Given the description of an element on the screen output the (x, y) to click on. 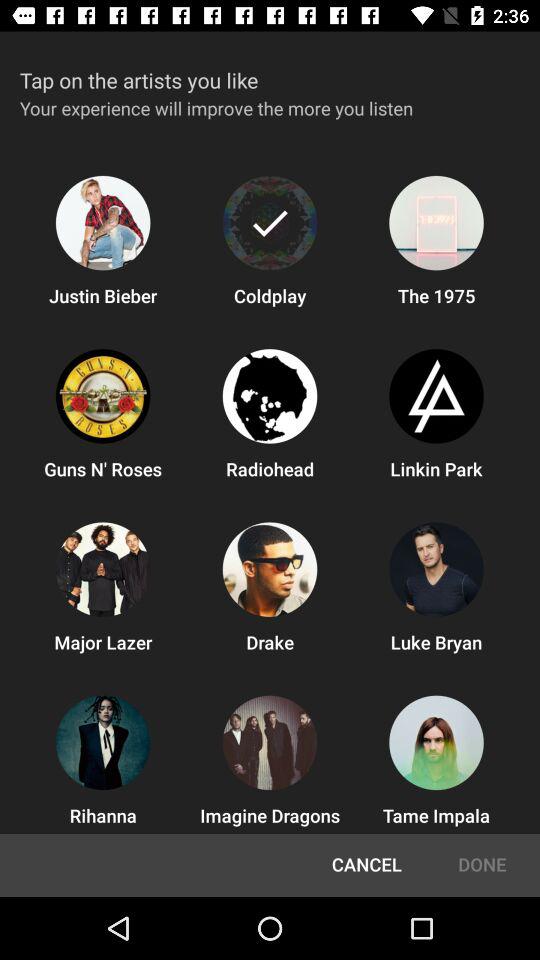
flip to the done item (482, 865)
